Given the description of an element on the screen output the (x, y) to click on. 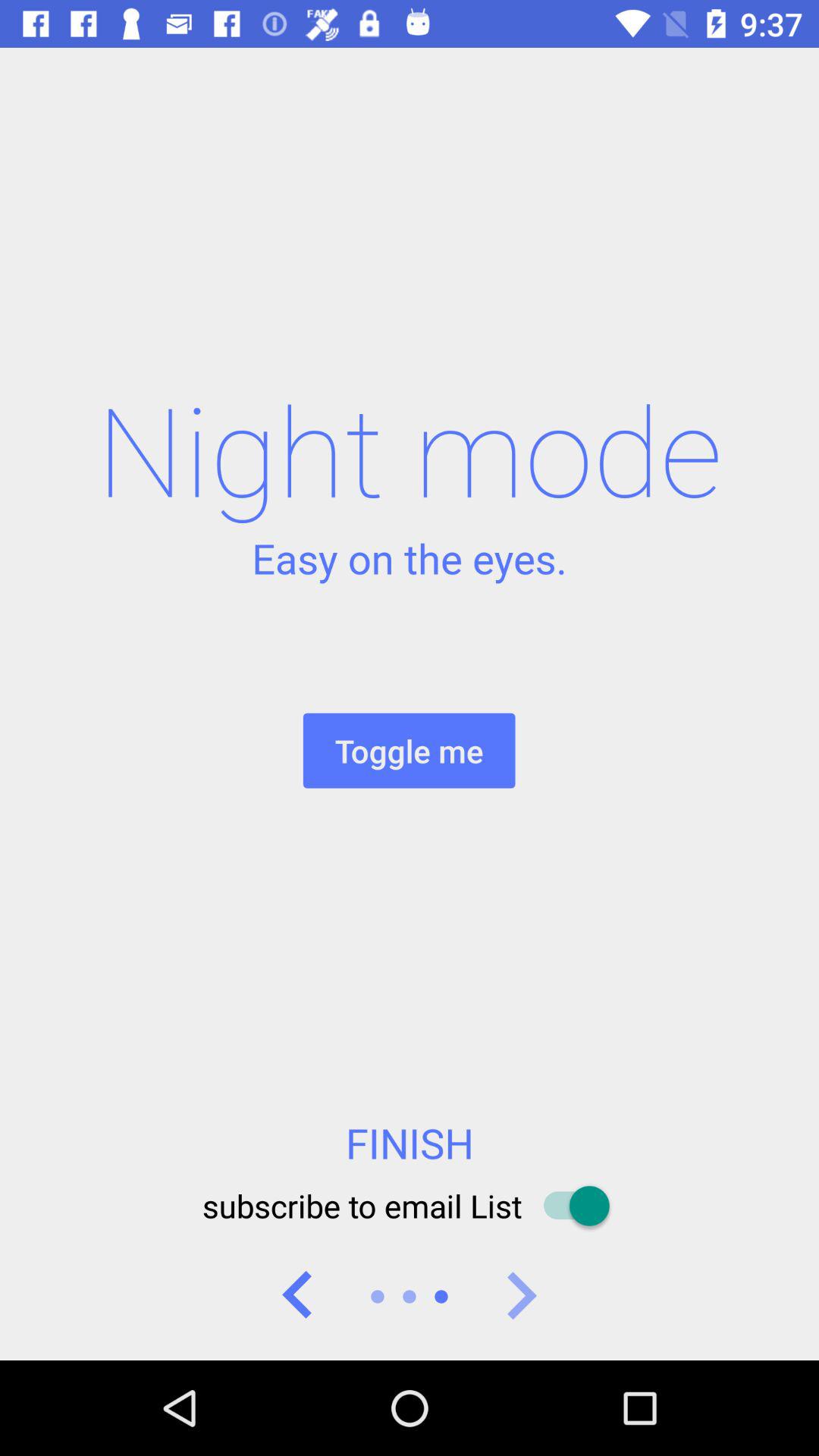
launch icon above the subscribe to email icon (409, 1143)
